Given the description of an element on the screen output the (x, y) to click on. 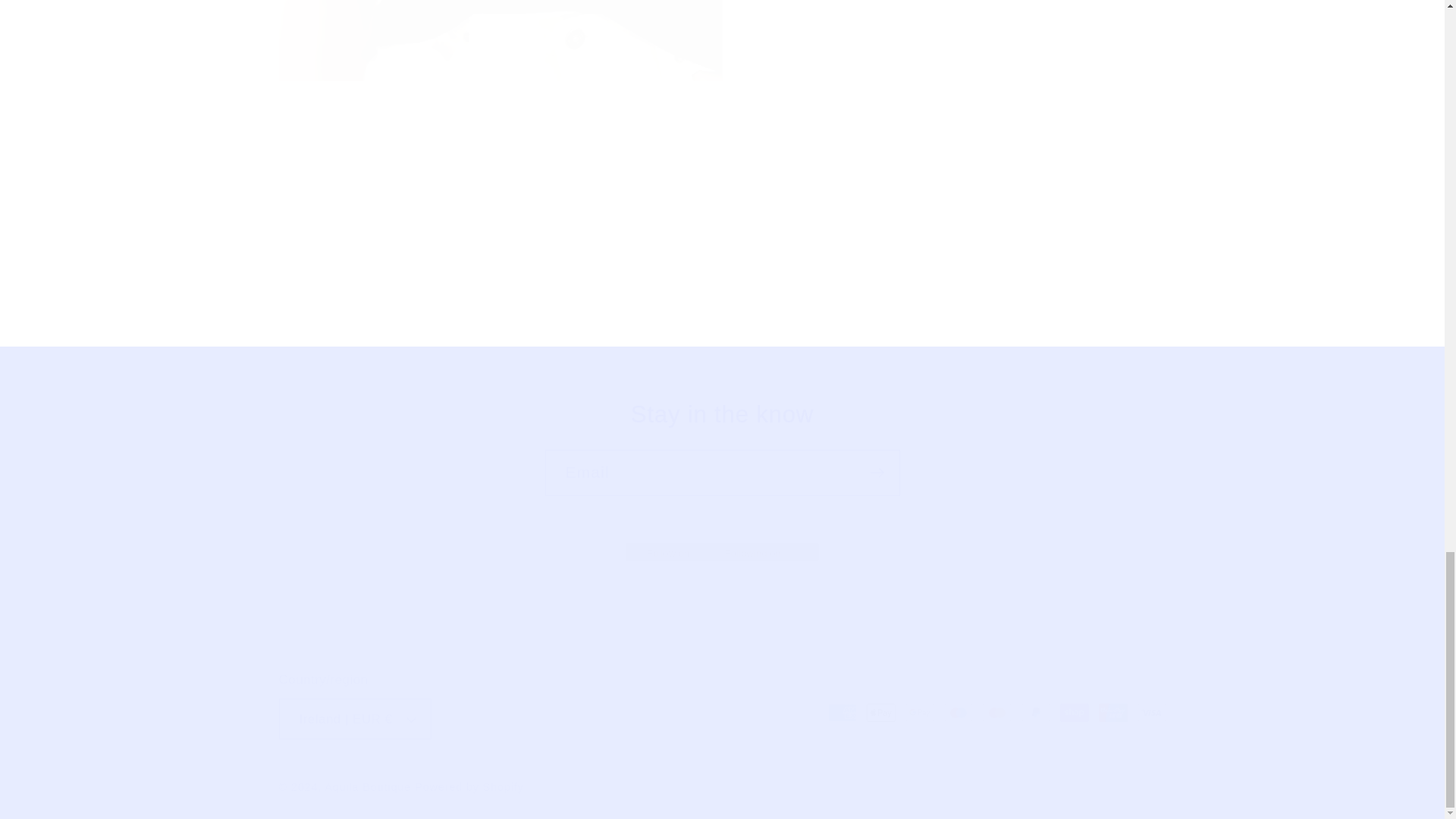
Email (721, 472)
Stay in the know (721, 414)
